Given the description of an element on the screen output the (x, y) to click on. 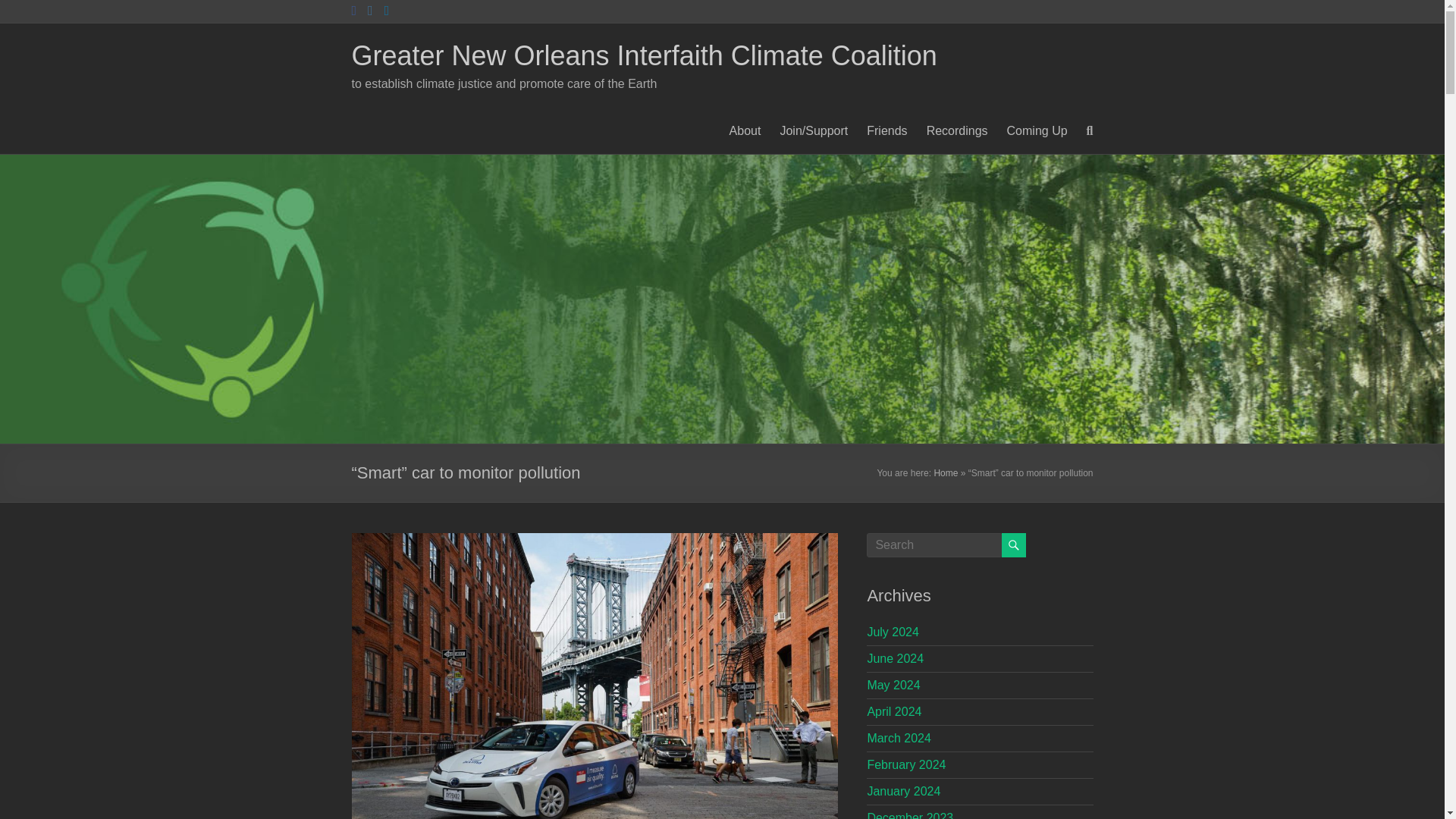
Coming Up (1037, 130)
Recordings (957, 130)
Greater New Orleans Interfaith Climate Coalition (644, 55)
Greater New Orleans Interfaith Climate Coalition (644, 55)
About (745, 130)
Home (945, 472)
Friends (886, 130)
